Given the description of an element on the screen output the (x, y) to click on. 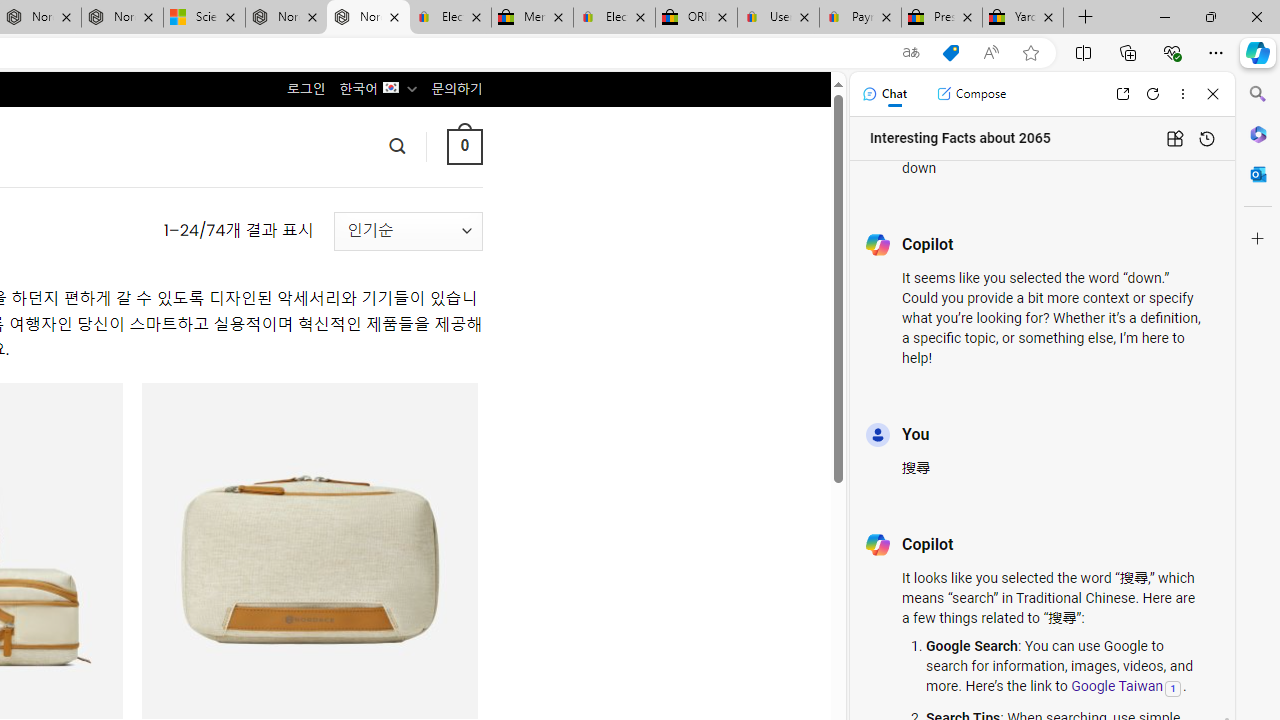
  0   (464, 146)
